Given the description of an element on the screen output the (x, y) to click on. 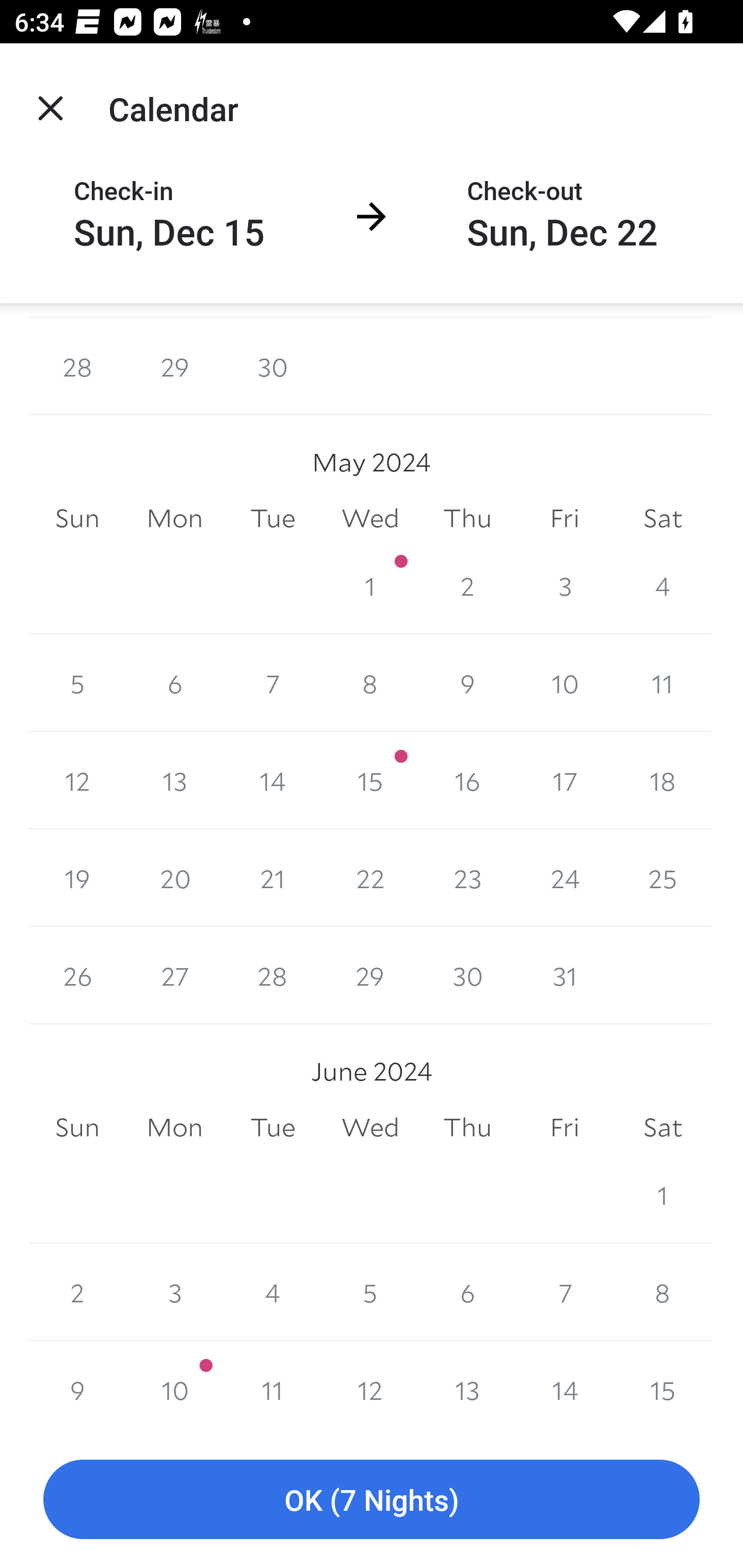
28 28 April 2024 (77, 366)
29 29 April 2024 (174, 366)
30 30 April 2024 (272, 366)
Sun (77, 518)
Mon (174, 518)
Tue (272, 518)
Wed (370, 518)
Thu (467, 518)
Fri (564, 518)
Sat (662, 518)
1 1 May 2024 (370, 585)
2 2 May 2024 (467, 585)
3 3 May 2024 (564, 585)
4 4 May 2024 (662, 585)
5 5 May 2024 (77, 683)
6 6 May 2024 (174, 683)
7 7 May 2024 (272, 683)
8 8 May 2024 (370, 683)
9 9 May 2024 (467, 683)
10 10 May 2024 (564, 683)
11 11 May 2024 (662, 683)
12 12 May 2024 (77, 780)
13 13 May 2024 (174, 780)
14 14 May 2024 (272, 780)
15 15 May 2024 (370, 780)
16 16 May 2024 (467, 780)
17 17 May 2024 (564, 780)
18 18 May 2024 (662, 780)
19 19 May 2024 (77, 877)
20 20 May 2024 (174, 877)
21 21 May 2024 (272, 877)
22 22 May 2024 (370, 877)
23 23 May 2024 (467, 877)
24 24 May 2024 (564, 877)
25 25 May 2024 (662, 877)
26 26 May 2024 (77, 974)
27 27 May 2024 (174, 974)
28 28 May 2024 (272, 974)
29 29 May 2024 (370, 974)
30 30 May 2024 (467, 974)
31 31 May 2024 (564, 974)
Sun (77, 1127)
Mon (174, 1127)
Tue (272, 1127)
Wed (370, 1127)
Thu (467, 1127)
Fri (564, 1127)
Sat (662, 1127)
1 1 June 2024 (662, 1194)
